Given the description of an element on the screen output the (x, y) to click on. 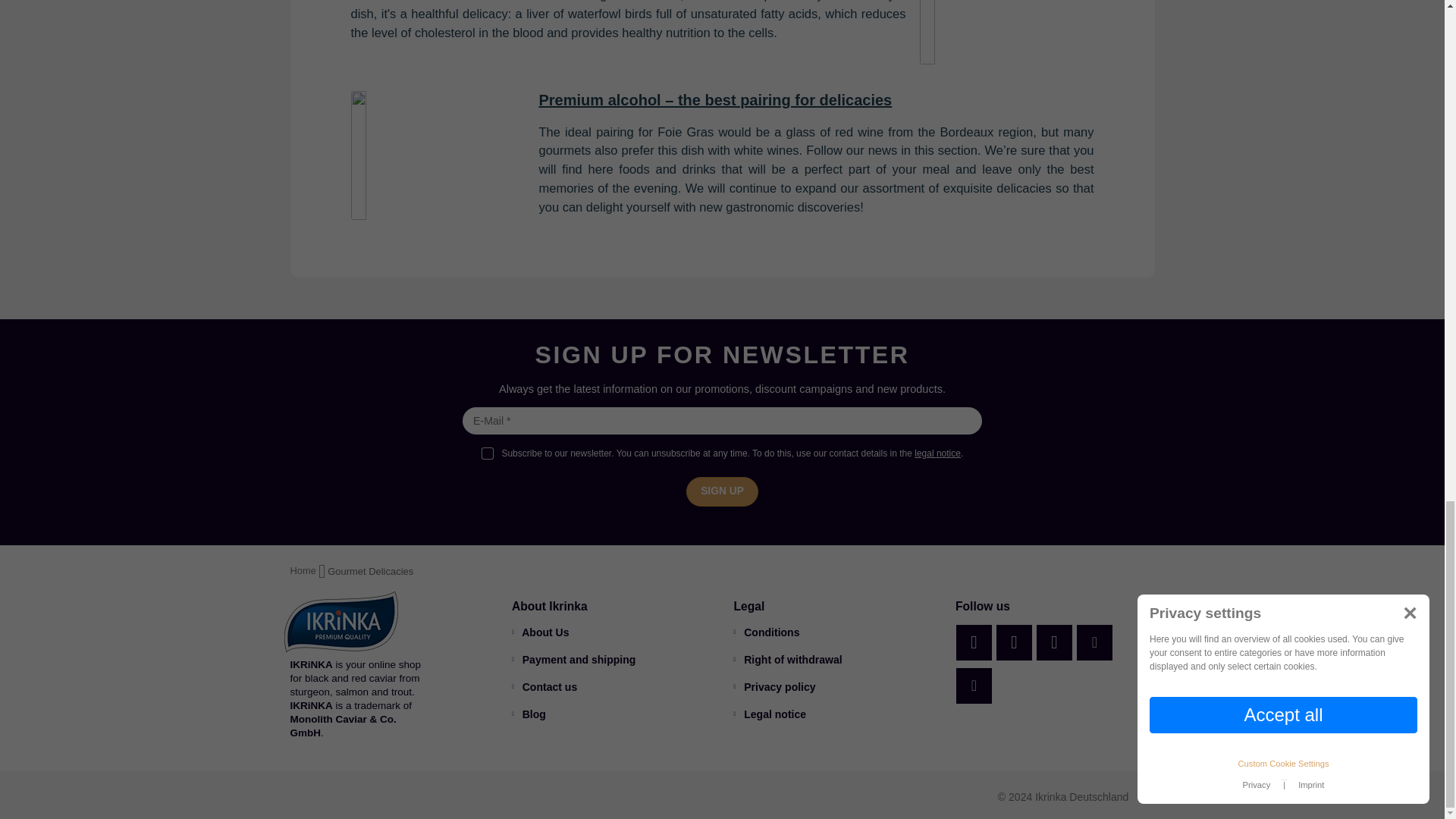
Facebook (973, 642)
Contact us (544, 687)
Blog (529, 714)
Right of withdrawal (788, 659)
Ok (973, 684)
Vk (1094, 642)
Legal notice (769, 714)
About Us (540, 632)
Privacy policy (774, 687)
YouTube (1013, 642)
Conditions (766, 632)
Sign up (721, 491)
Instagram (1053, 642)
Payment and shipping (573, 659)
